Given the description of an element on the screen output the (x, y) to click on. 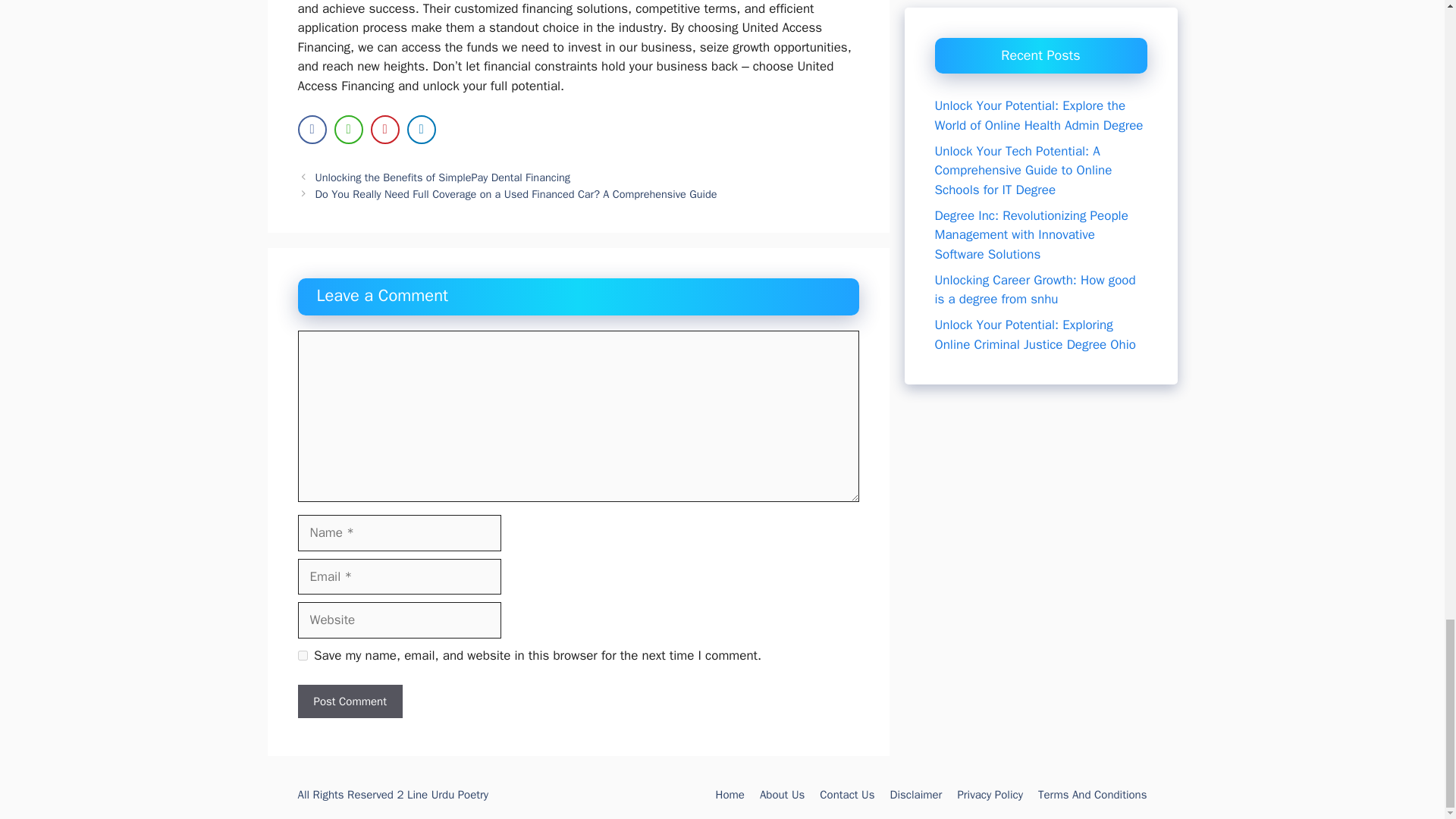
Home (730, 794)
About Us (782, 794)
Post Comment (349, 701)
Contact Us (847, 794)
Disclaimer (915, 794)
Unlocking the Benefits of SimplePay Dental Financing (442, 177)
yes (302, 655)
Post Comment (349, 701)
